Given the description of an element on the screen output the (x, y) to click on. 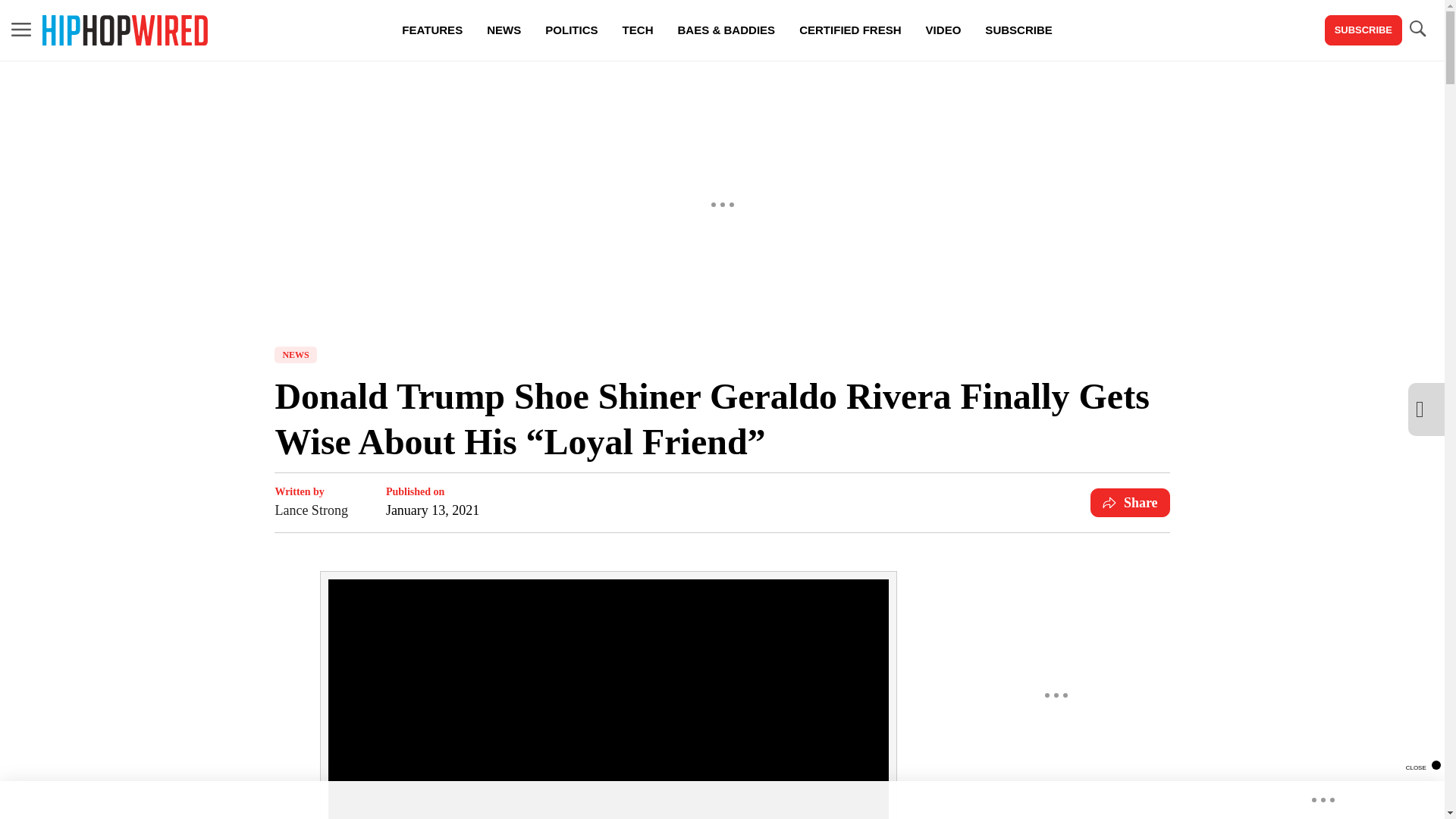
CERTIFIED FRESH (849, 30)
MENU (20, 29)
Lance Strong (311, 509)
SUBSCRIBE (1363, 30)
Share (1130, 502)
POLITICS (571, 30)
TECH (637, 30)
TOGGLE SEARCH (1417, 28)
FEATURES (432, 30)
VIDEO (944, 30)
SUBSCRIBE (1018, 30)
MENU (20, 30)
NEWS (503, 30)
NEWS (295, 354)
TOGGLE SEARCH (1417, 30)
